Given the description of an element on the screen output the (x, y) to click on. 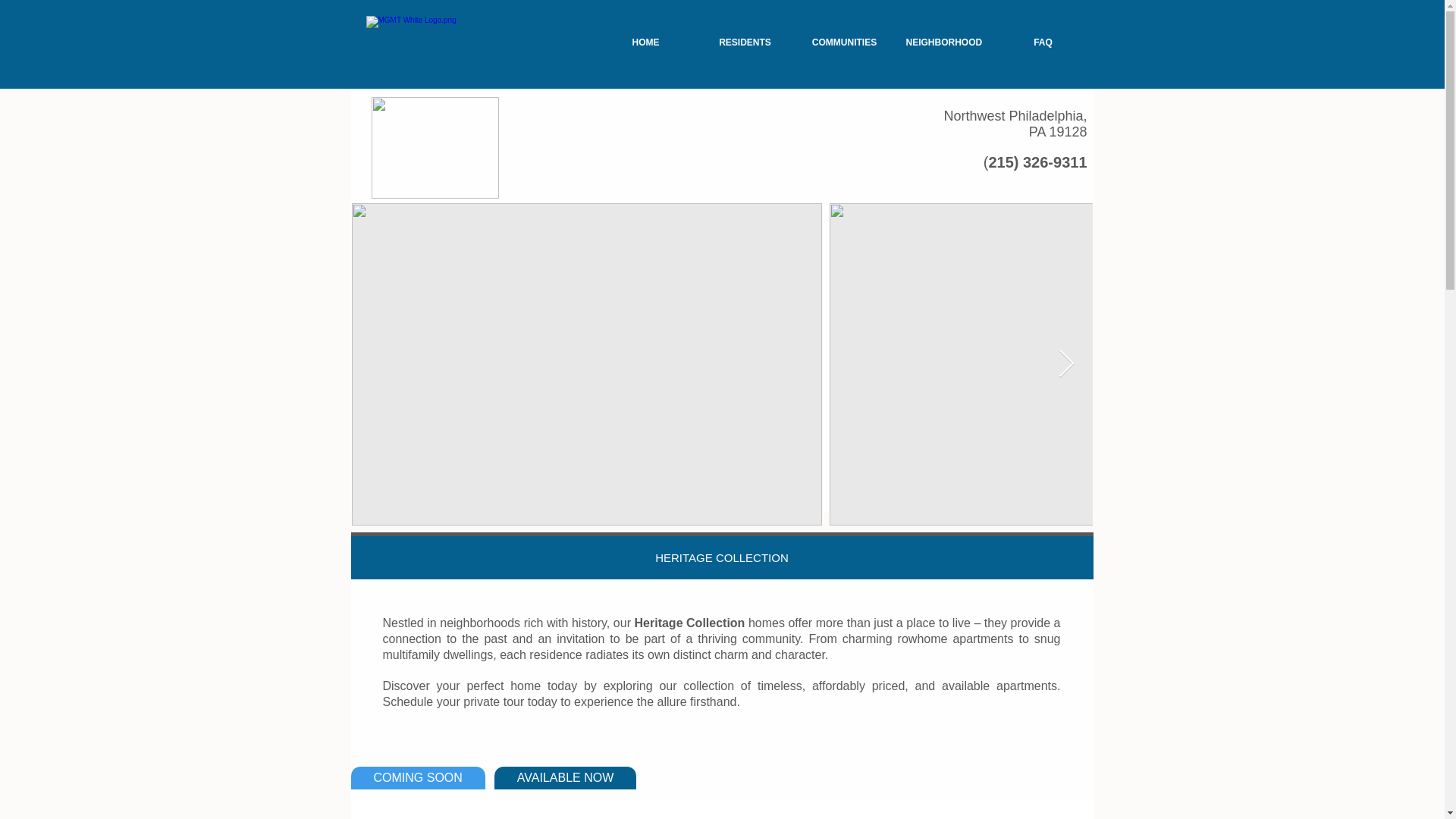
FAQ (1042, 42)
COMMUNITIES (843, 42)
RESIDENTS (743, 42)
HOME (645, 42)
NEIGHBORHOOD (942, 42)
